Given the description of an element on the screen output the (x, y) to click on. 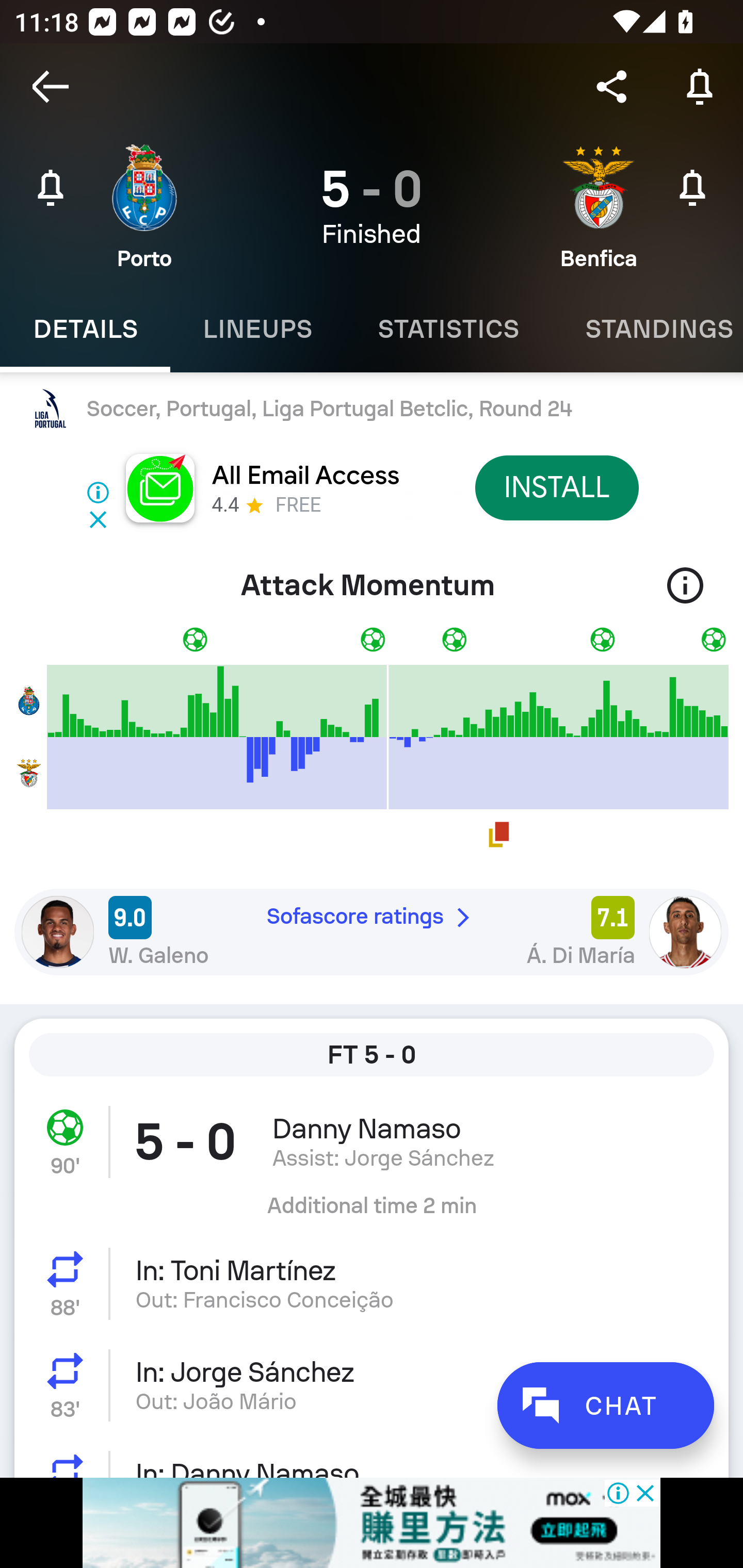
Navigate up (50, 86)
Lineups LINEUPS (257, 329)
Statistics STATISTICS (448, 329)
Standings STANDINGS (647, 329)
Soccer, Portugal, Liga Portugal Betclic, Round 24 (371, 409)
INSTALL (556, 487)
All Email Access (305, 475)
9.0 Sofascore ratings 7.1 W. Galeno Á. Di María (371, 932)
FT 5 - 0 (371, 1055)
Additional time 2 min (371, 1212)
Substitution In: Jorge Sánchez 83' Out: João Mário (371, 1385)
CHAT (605, 1405)
Advertisement (371, 1522)
